Given the description of an element on the screen output the (x, y) to click on. 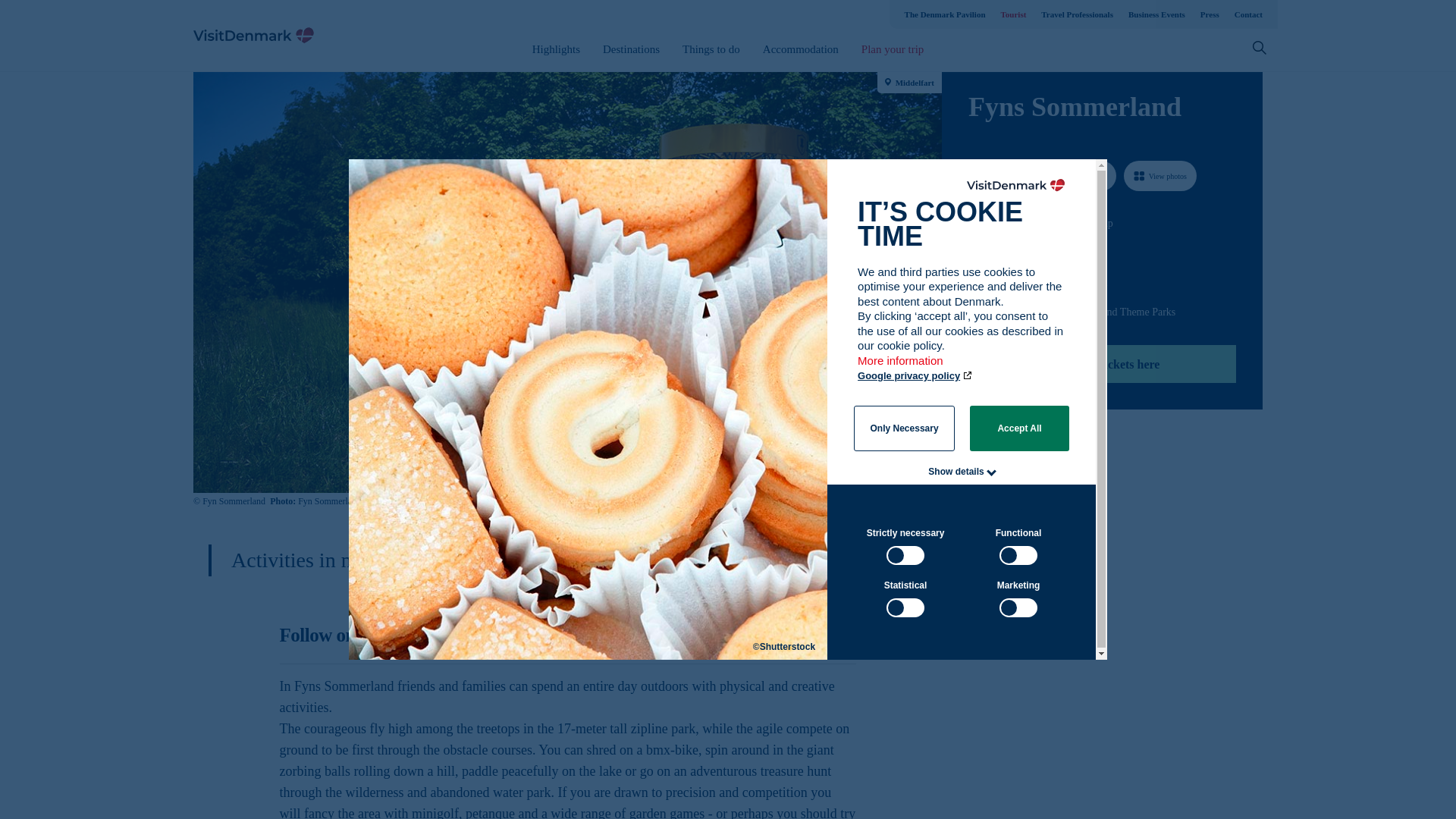
More information (900, 367)
Accept All (1018, 428)
Path (973, 250)
Google privacy policy (915, 375)
Only Necessary (904, 428)
Show details (956, 471)
